Given the description of an element on the screen output the (x, y) to click on. 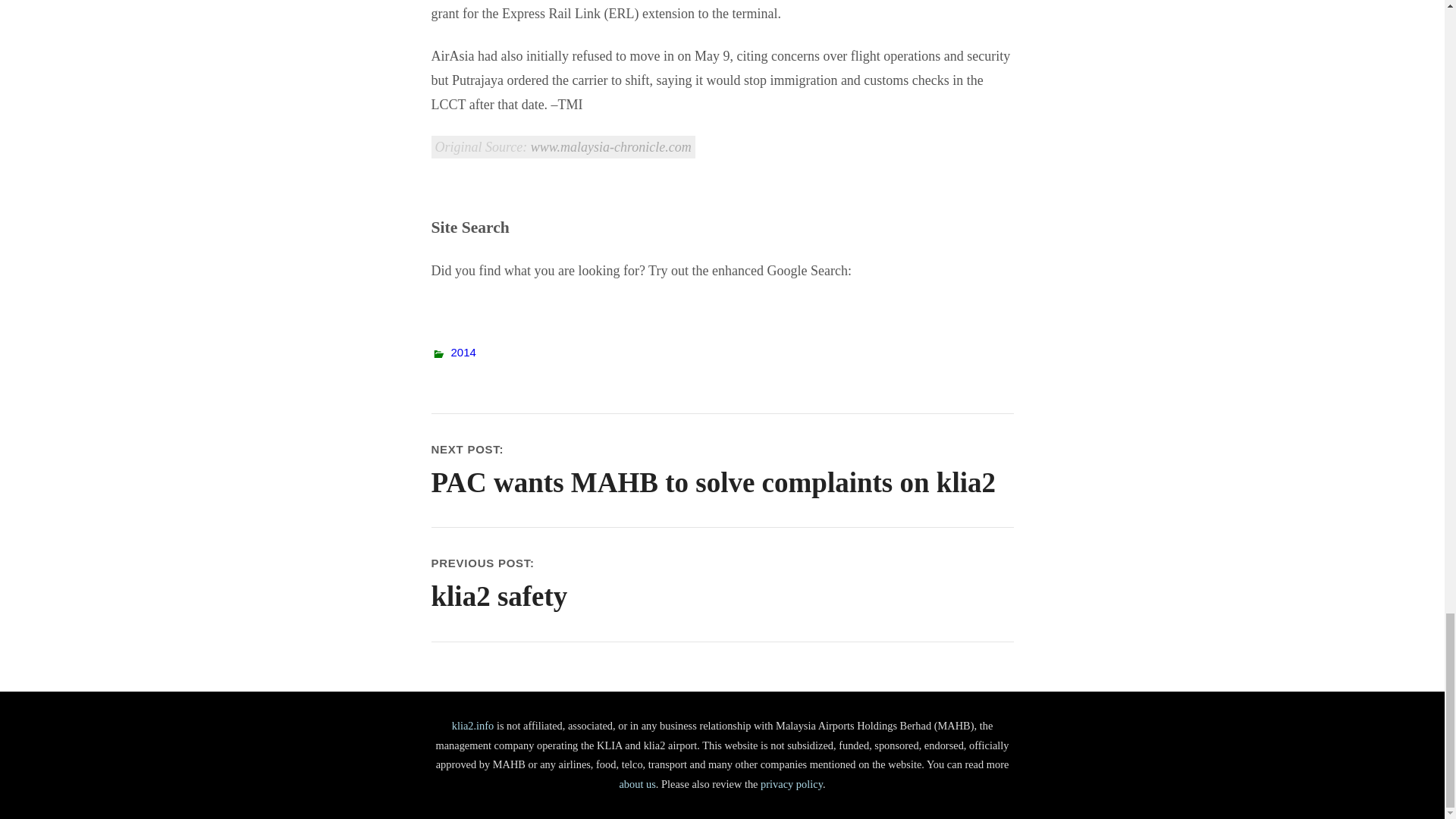
about us (721, 584)
www.malaysia-chronicle.com (636, 784)
privacy policy (611, 146)
klia2.info (791, 784)
2014 (473, 725)
